Given the description of an element on the screen output the (x, y) to click on. 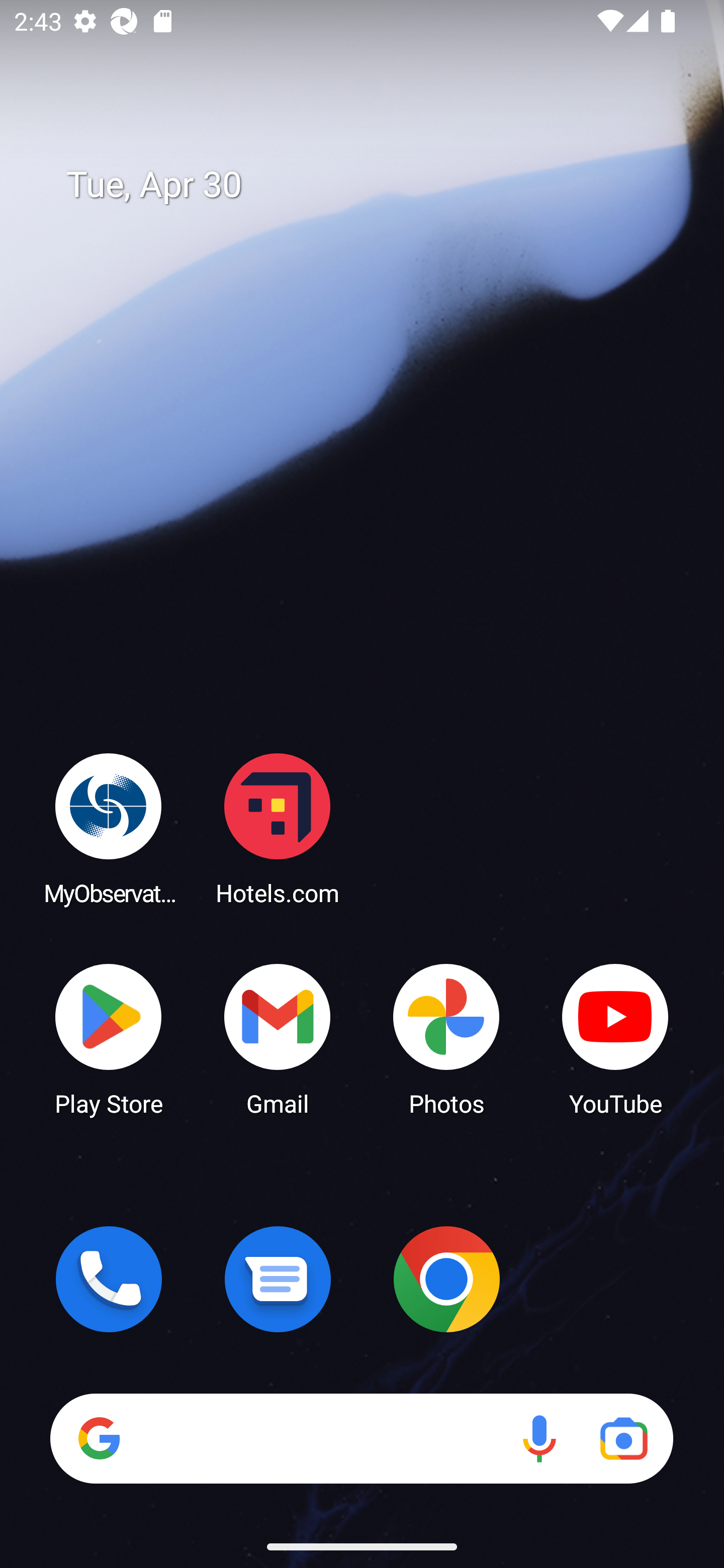
Tue, Apr 30 (375, 184)
MyObservatory (108, 828)
Hotels.com (277, 828)
Play Store (108, 1038)
Gmail (277, 1038)
Photos (445, 1038)
YouTube (615, 1038)
Phone (108, 1279)
Messages (277, 1279)
Chrome (446, 1279)
Voice search (539, 1438)
Google Lens (623, 1438)
